Given the description of an element on the screen output the (x, y) to click on. 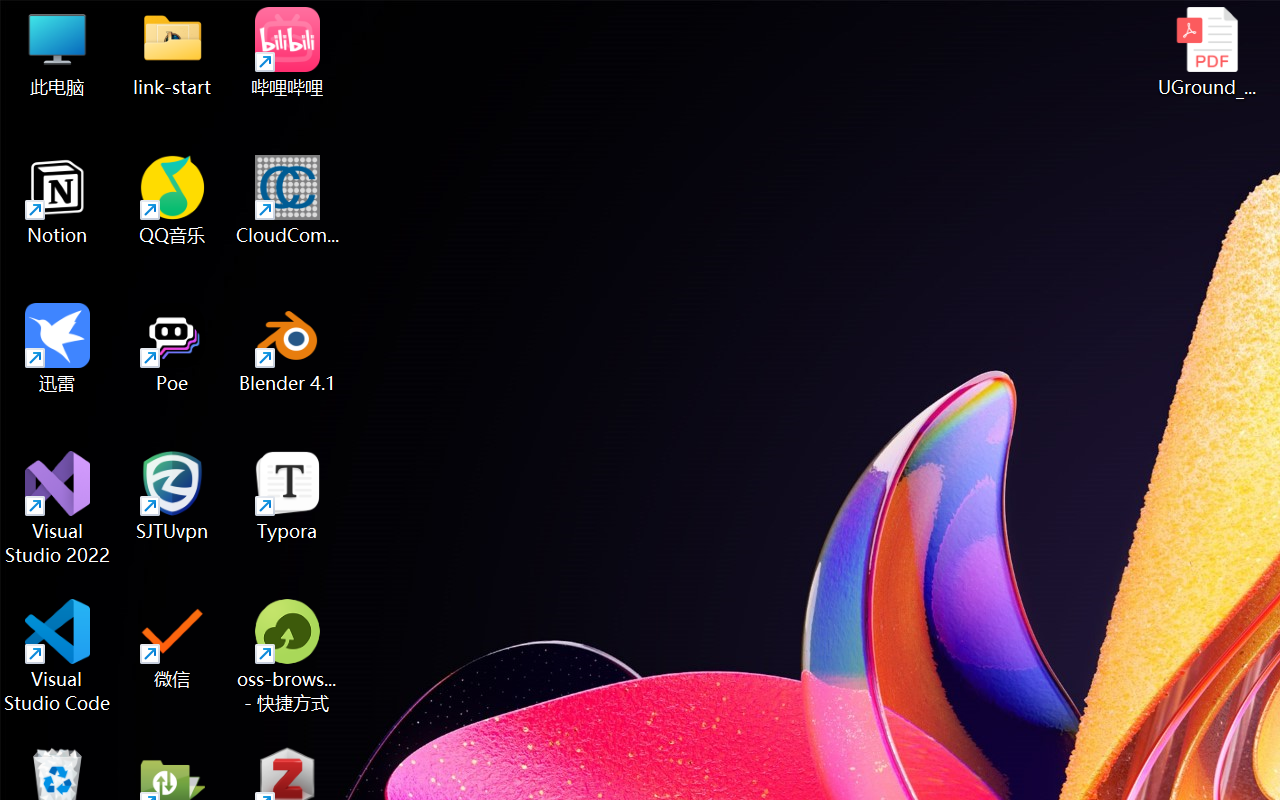
Blender 4.1 (287, 348)
UGround_paper.pdf (1206, 52)
Typora (287, 496)
Visual Studio 2022 (57, 508)
SJTUvpn (172, 496)
Visual Studio Code (57, 656)
CloudCompare (287, 200)
